Given the description of an element on the screen output the (x, y) to click on. 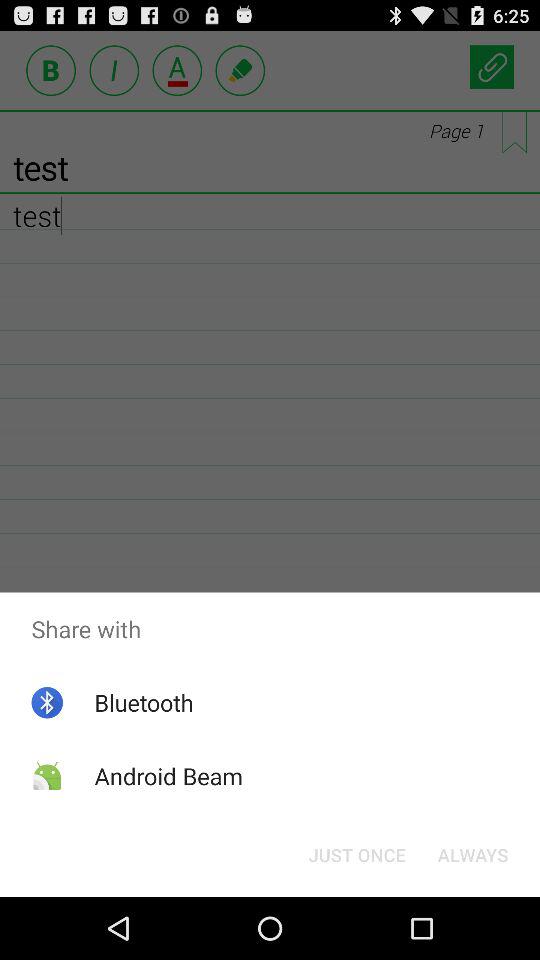
click item above android beam icon (143, 702)
